Given the description of an element on the screen output the (x, y) to click on. 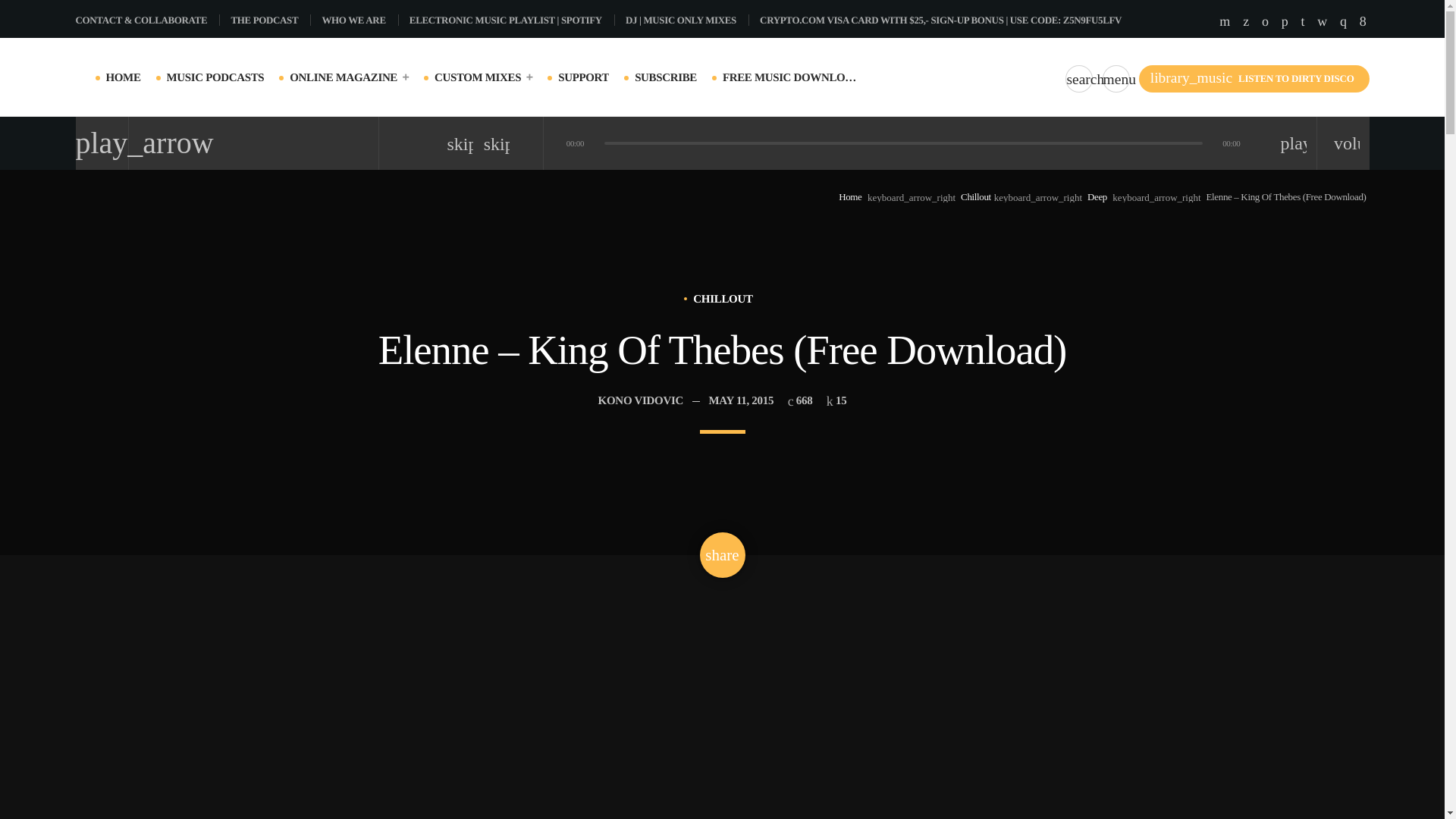
THE PODCAST (270, 19)
CUSTOM MIXES (482, 77)
SUPPORT (582, 77)
SUBSCRIBE (665, 77)
ONLINE MAGAZINE (349, 77)
MUSIC PODCASTS (215, 77)
WHO WE ARE (359, 19)
FREE MUSIC DOWNLOADS (790, 77)
HOME (123, 77)
